Given the description of an element on the screen output the (x, y) to click on. 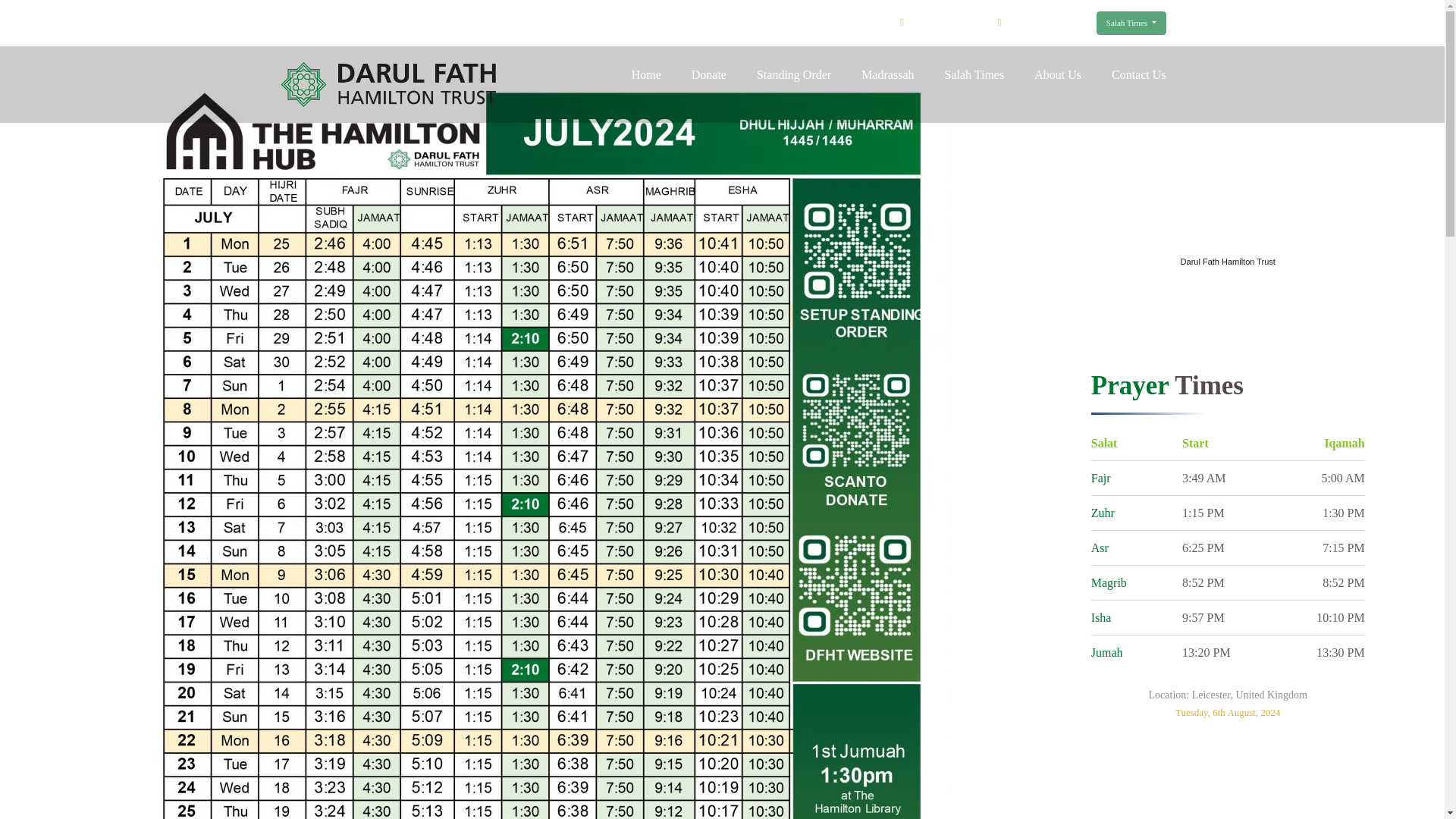
Donate (708, 74)
Salah Times (1131, 23)
Darul Fath Hamilton Trust (1228, 261)
Madrassah (887, 74)
Standing Order (794, 74)
Contact Us (1139, 74)
Salah Times (973, 74)
About Us (1057, 74)
